Given the description of an element on the screen output the (x, y) to click on. 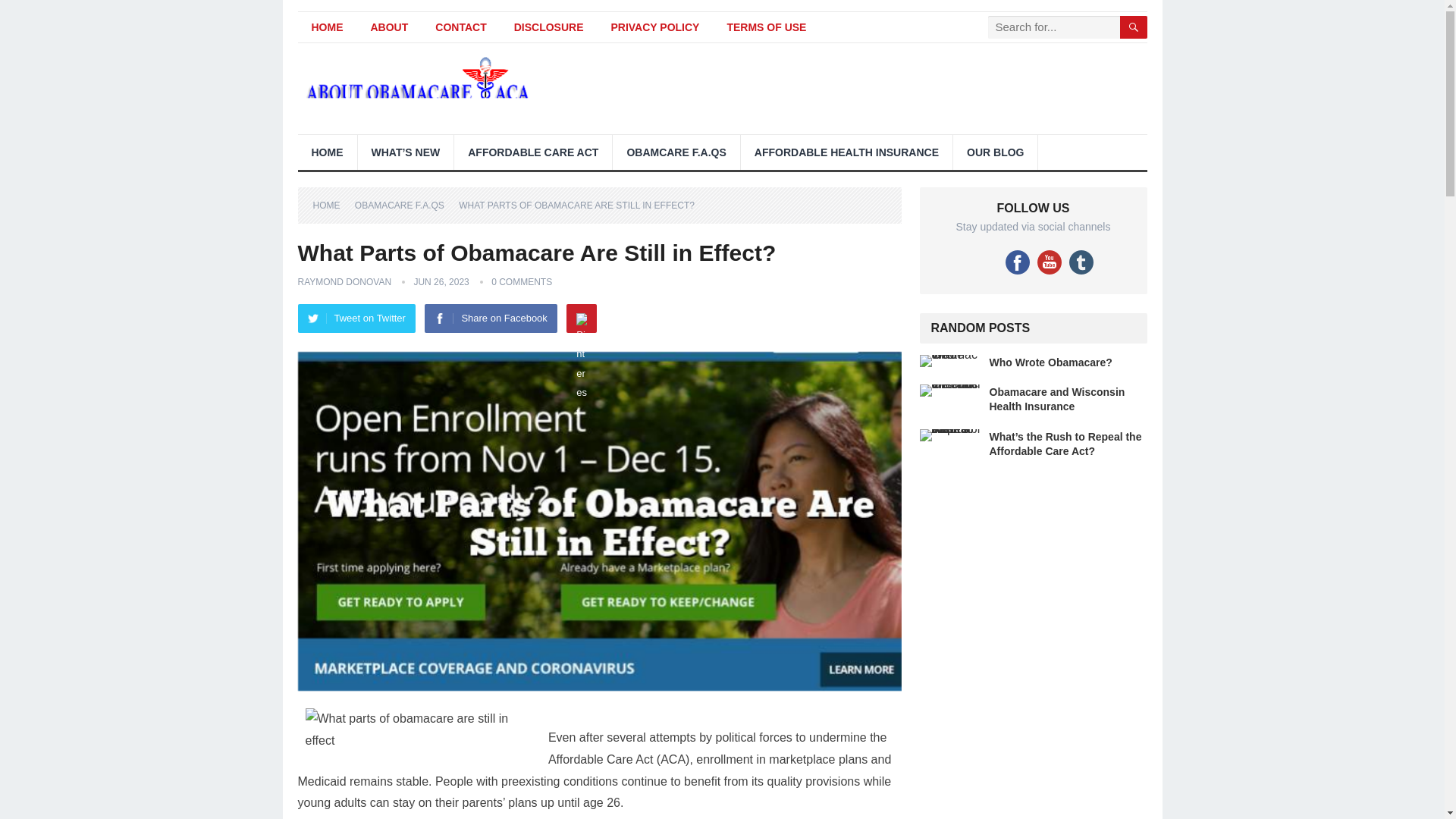
Posts by Raymond Donovan (344, 281)
ABOUT (389, 27)
RAYMOND DONOVAN (344, 281)
TERMS OF USE (766, 27)
DISCLOSURE (548, 27)
0 COMMENTS (521, 281)
AFFORDABLE HEALTH INSURANCE (846, 152)
HOME (331, 204)
Tweet on Twitter (355, 317)
AFFORDABLE CARE ACT (532, 152)
